Given the description of an element on the screen output the (x, y) to click on. 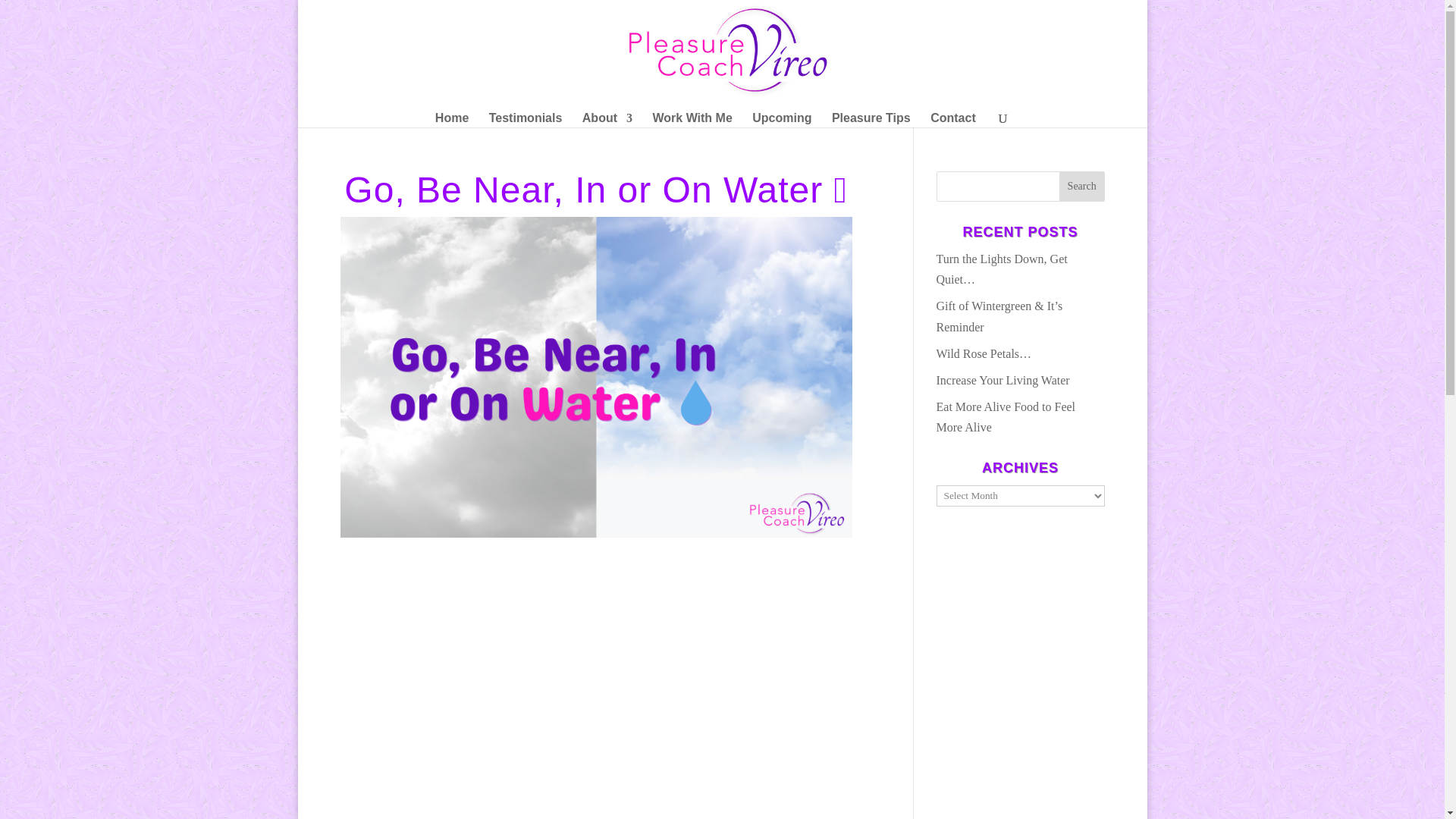
Upcoming (781, 120)
Search (1082, 186)
YouTube video player (595, 698)
Work With Me (692, 120)
Testimonials (525, 120)
Search (1082, 186)
Contact (952, 120)
Pleasure Tips (871, 120)
Eat More Alive Food to Feel More Alive (1005, 417)
About (606, 120)
Increase Your Living Water (1002, 379)
Home (451, 120)
